Given the description of an element on the screen output the (x, y) to click on. 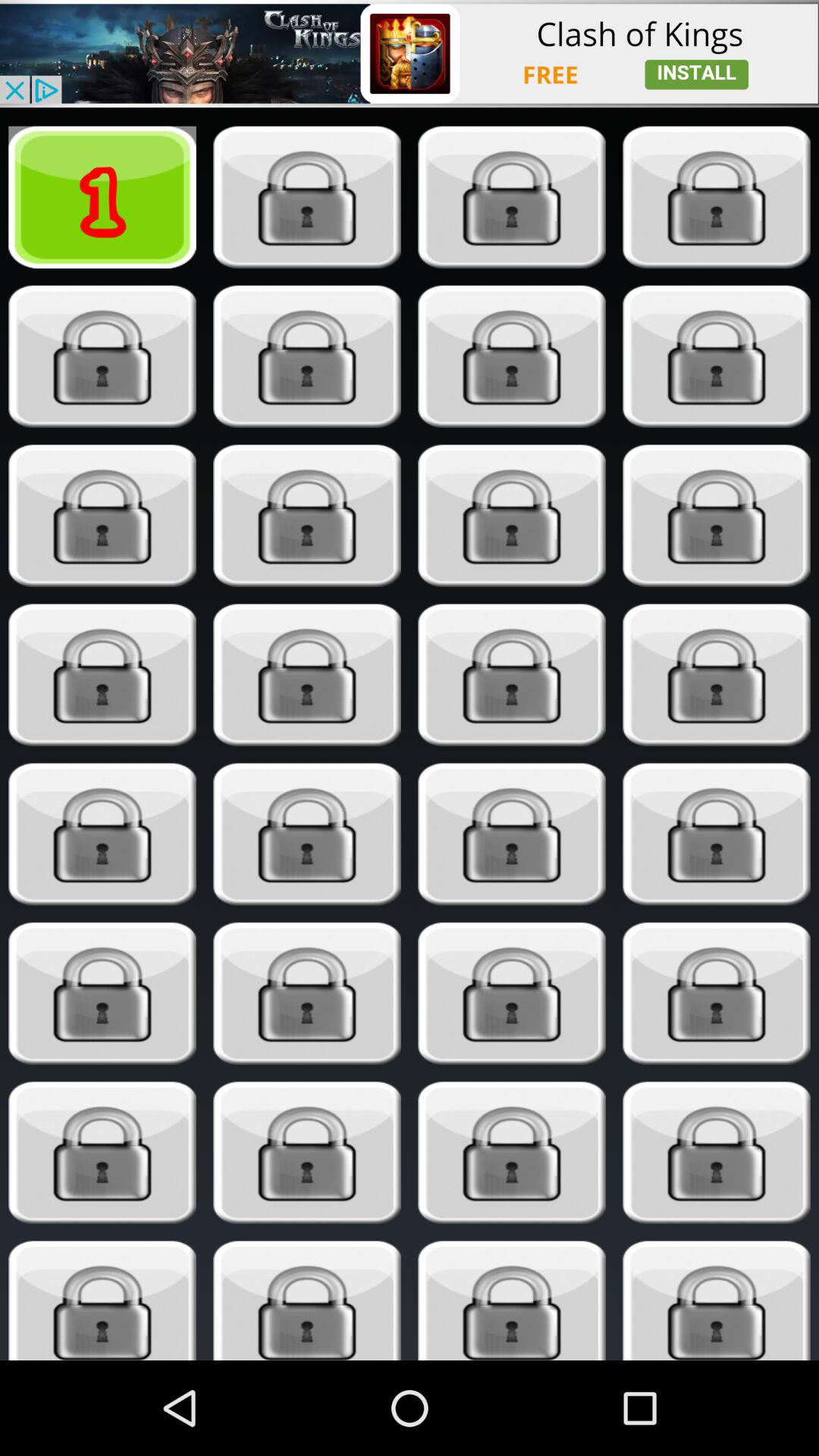
secret lock (306, 1152)
